Given the description of an element on the screen output the (x, y) to click on. 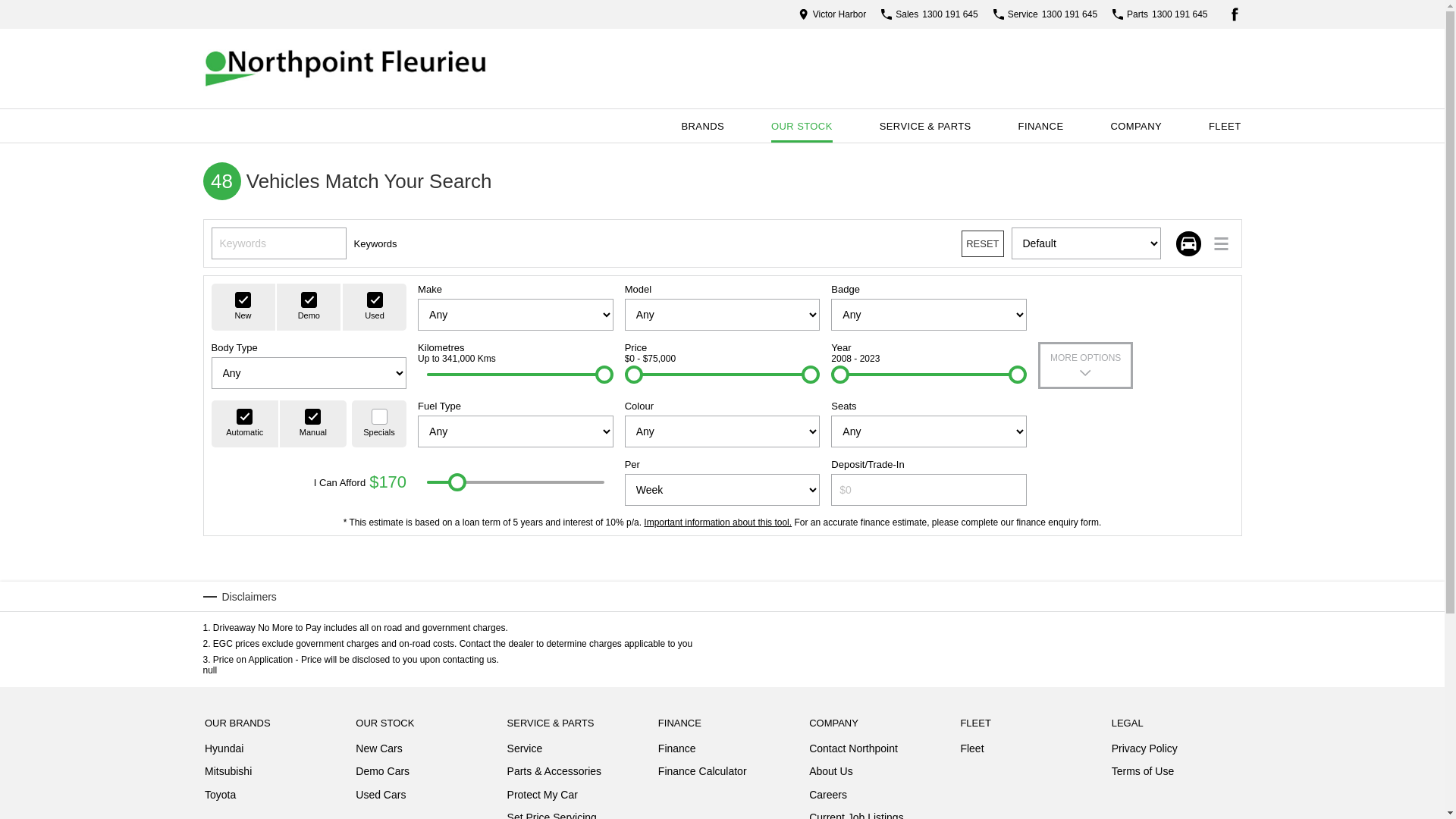
Demo Cars Element type: text (382, 773)
Sales
1300 191 645 Element type: text (929, 13)
FLEET Element type: text (1224, 125)
OUR STOCK Element type: text (801, 125)
Parts & Accessories Element type: text (554, 773)
Used Cars Element type: text (380, 794)
SERVICE & PARTS Element type: text (925, 125)
Service
1300 191 645 Element type: text (1045, 13)
Finance Calculator Element type: text (702, 770)
Privacy Policy Element type: text (1144, 751)
Victor Harbor Element type: text (832, 13)
RESET Element type: text (982, 243)
About Us Element type: text (831, 773)
COMPANY Element type: text (1135, 125)
Service Element type: text (524, 751)
Contact Northpoint Element type: text (853, 751)
Mitsubishi Element type: text (227, 773)
Parts
1300 191 645 Element type: text (1159, 13)
Finance Element type: text (677, 751)
BRANDS Element type: text (702, 125)
Careers Element type: text (828, 797)
Fleet Element type: text (971, 748)
Hyundai Element type: text (223, 751)
Terms of Use Element type: text (1142, 770)
Protect My Car Element type: text (542, 797)
MORE OPTIONS Element type: text (1085, 365)
Toyota Element type: text (219, 794)
Important information about this tool. Element type: text (717, 522)
FINANCE Element type: text (1041, 125)
New Cars Element type: text (378, 751)
